Given the description of an element on the screen output the (x, y) to click on. 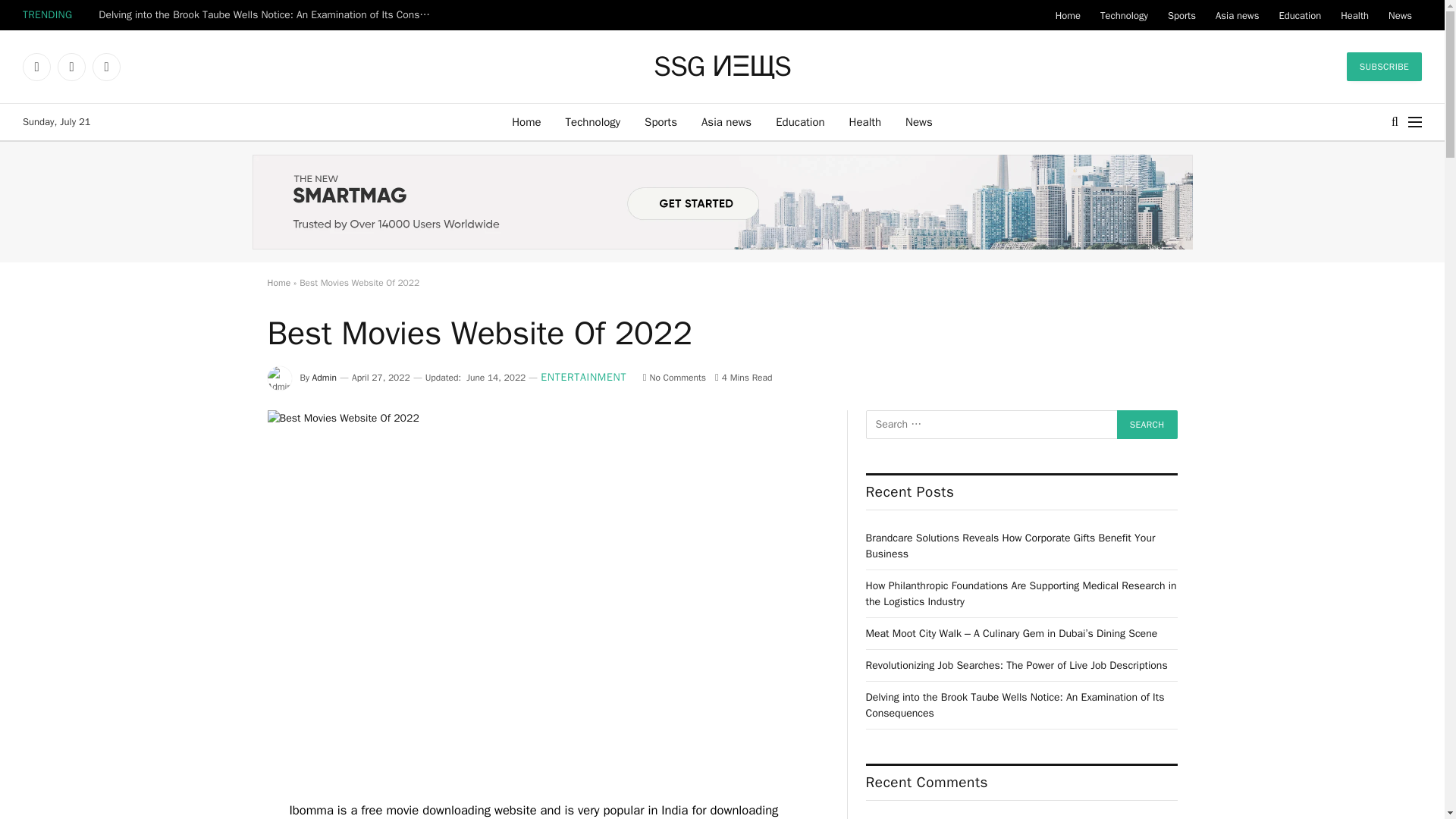
Sports (1181, 15)
Home (526, 122)
News (1400, 15)
Health (1354, 15)
Education (1299, 15)
Asia news (1236, 15)
Health (865, 122)
Posts by Admin (324, 377)
Technology (1123, 15)
News (918, 122)
Home (1067, 15)
Facebook (36, 67)
Education (798, 122)
Sports (659, 122)
